Given the description of an element on the screen output the (x, y) to click on. 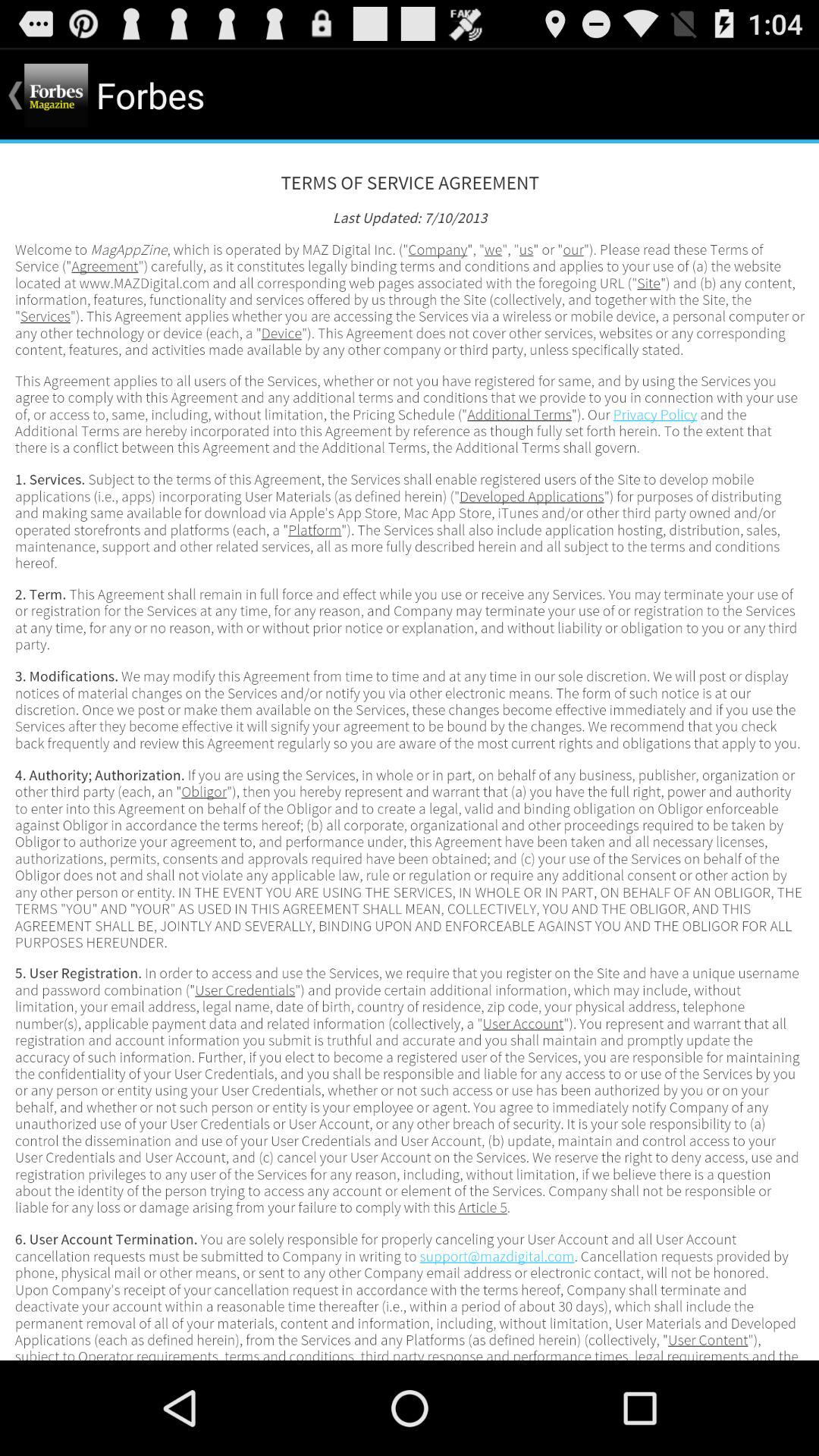
advertisement (409, 751)
